Given the description of an element on the screen output the (x, y) to click on. 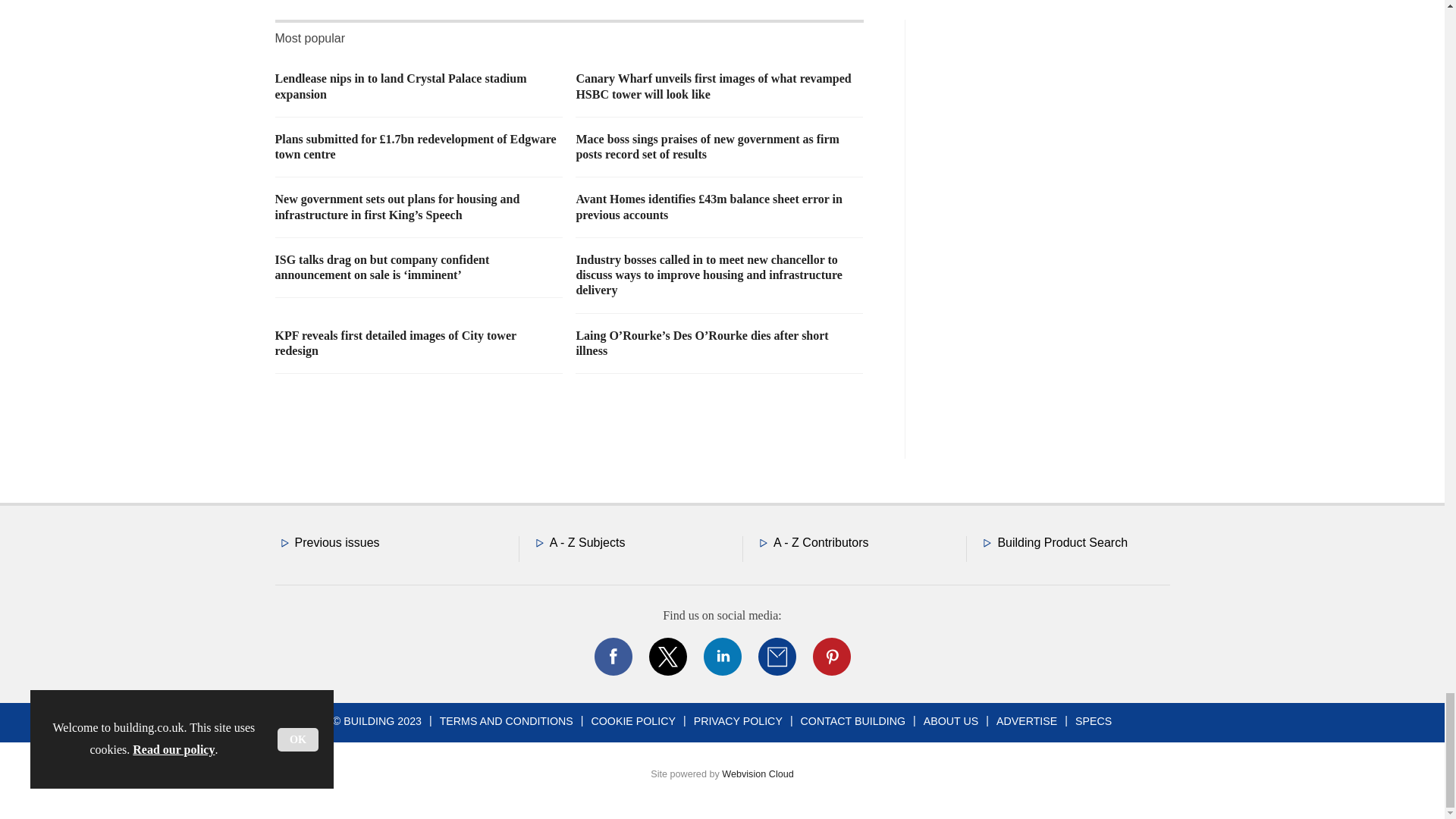
Connect with us on Pinterest (830, 656)
Connect with us on Twitter (667, 656)
Connect with us on Facebook (611, 656)
Email us (776, 656)
Connect with us on Linked in (721, 656)
